Given the description of an element on the screen output the (x, y) to click on. 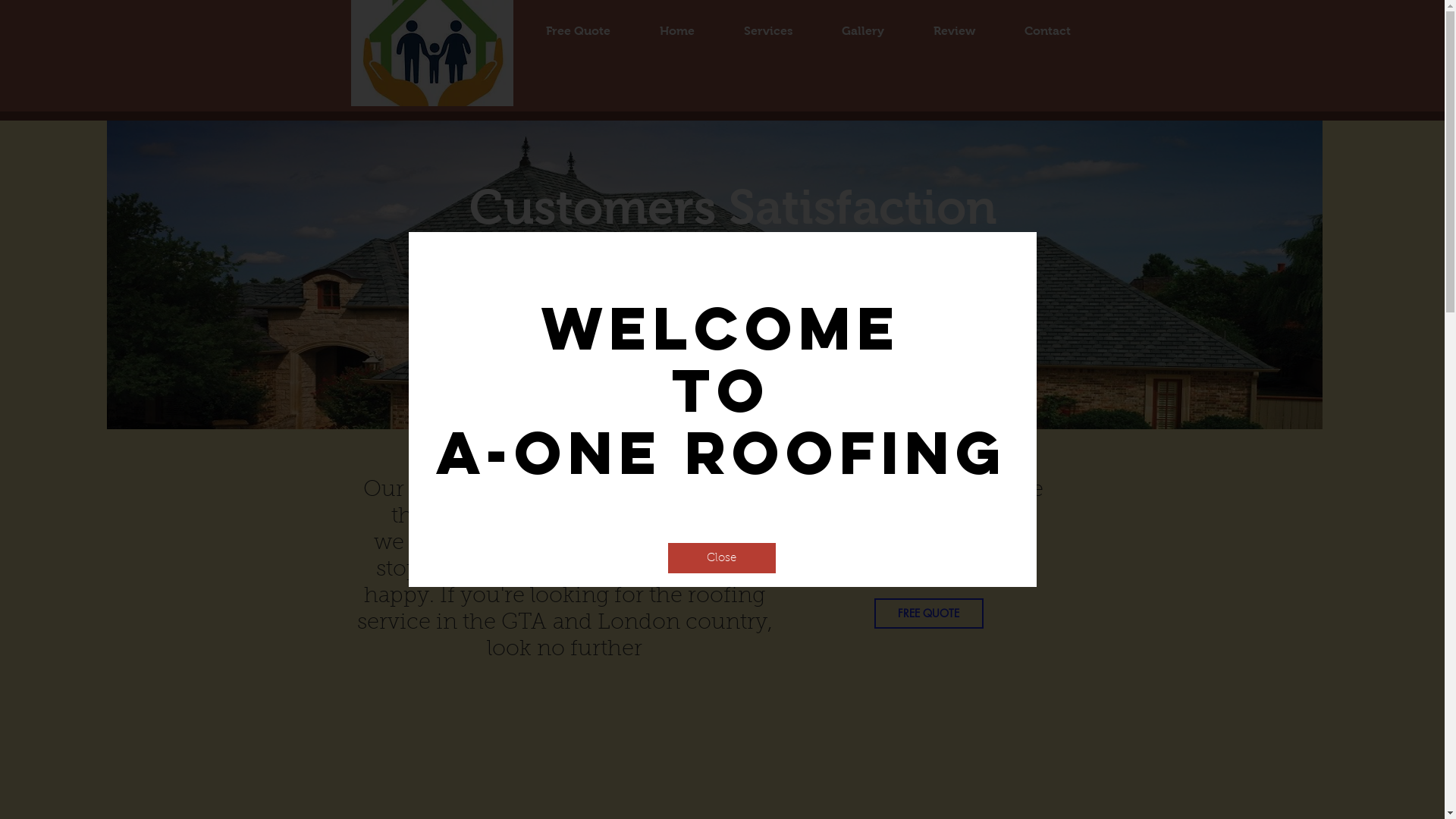
Free Quote Element type: text (577, 30)
Review Element type: text (953, 30)
Gallery Element type: text (863, 30)
FREE QUOTE Element type: text (927, 613)
Home Element type: text (677, 30)
Contact Element type: text (1047, 30)
Services Element type: text (767, 30)
